Given the description of an element on the screen output the (x, y) to click on. 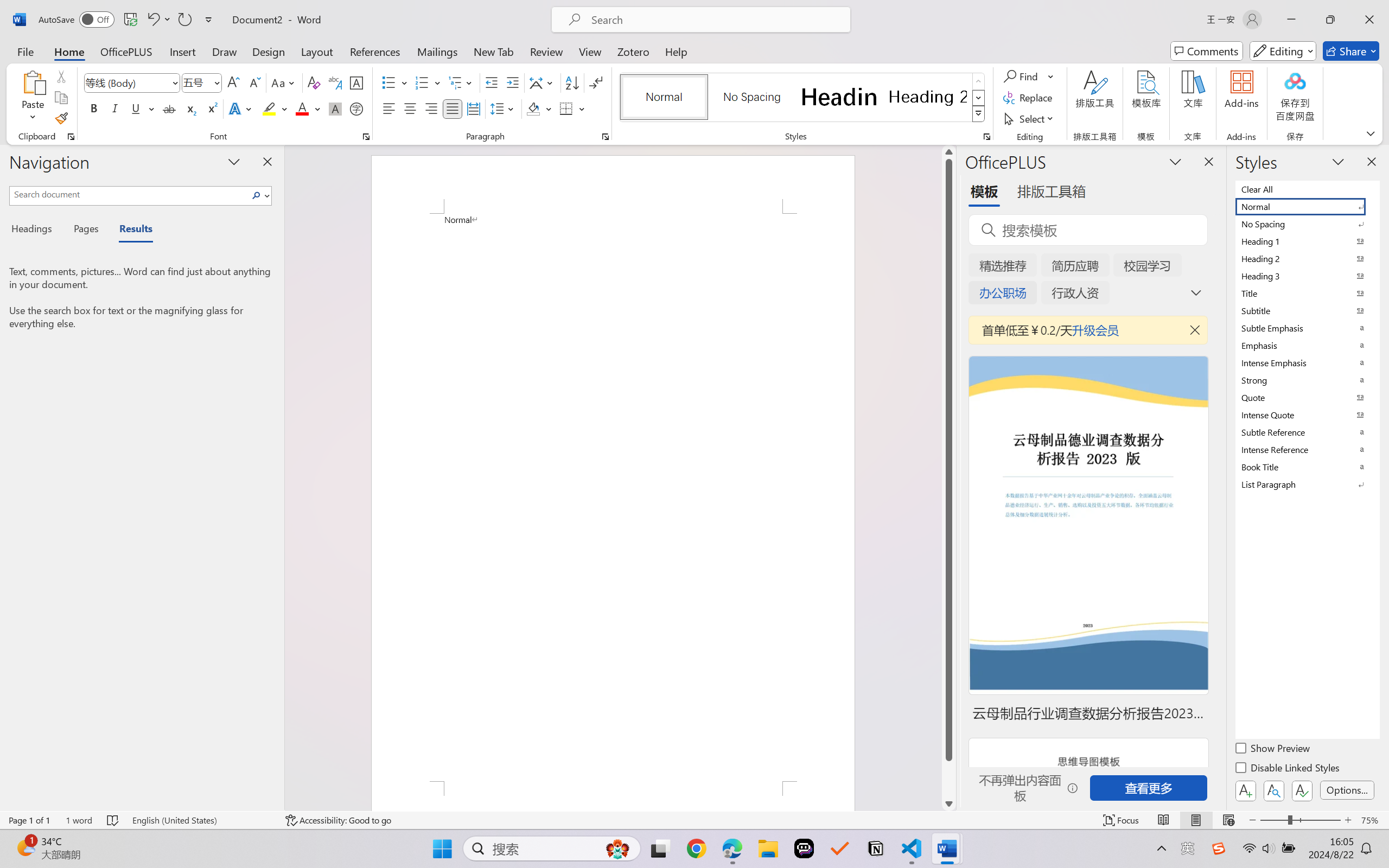
Change Case (284, 82)
Share (1350, 51)
Shading (539, 108)
Repeat Doc Close (184, 19)
Design (268, 51)
Format Painter (60, 118)
Shrink Font (253, 82)
Class: NetUIImage (978, 114)
Normal (1306, 206)
Home (69, 51)
Results (130, 229)
